Given the description of an element on the screen output the (x, y) to click on. 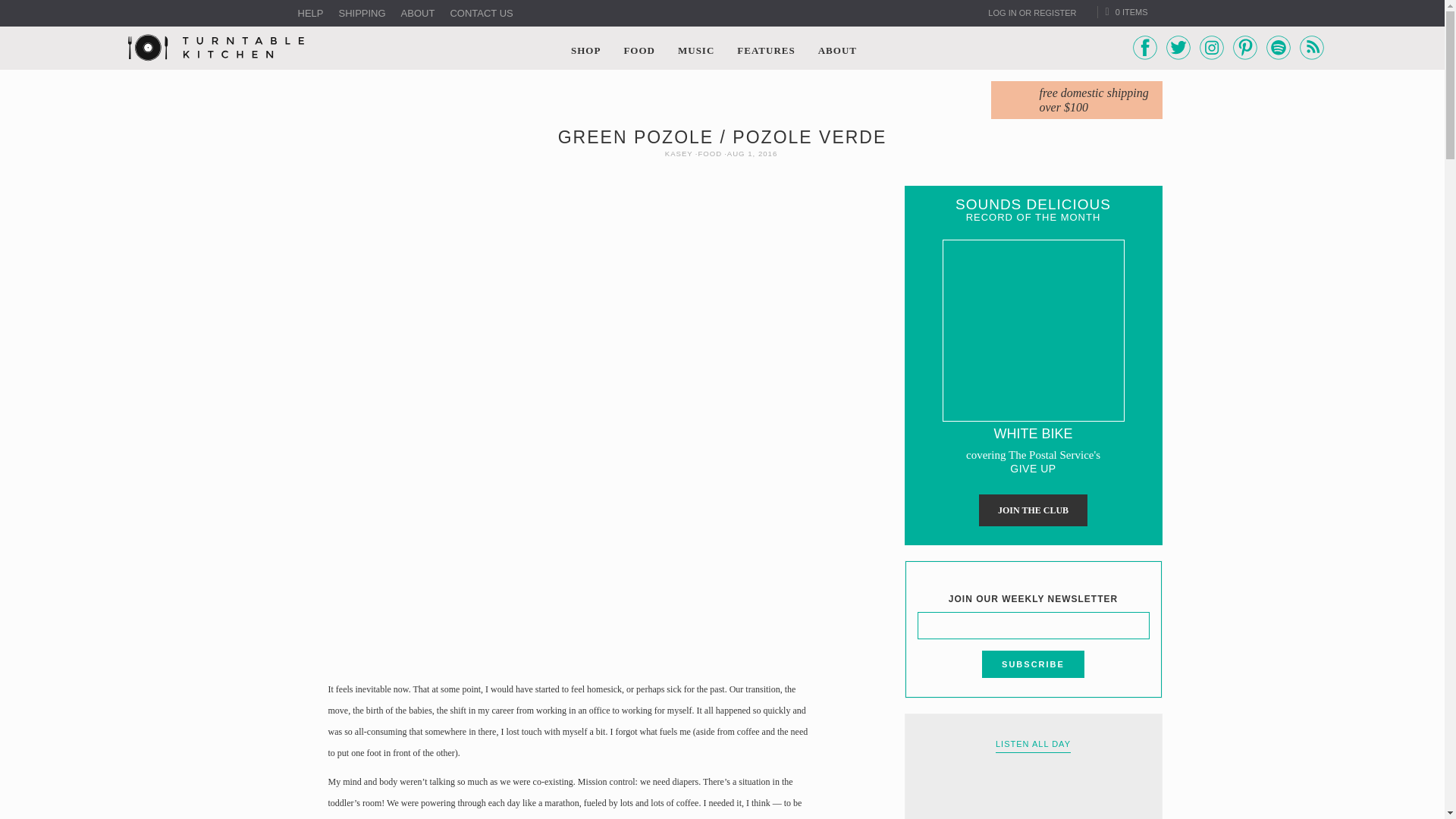
SHOP (585, 47)
Log In (1031, 12)
SHIPPING (361, 13)
Subscribe (1032, 664)
View your shopping cart (1126, 11)
LOG IN OR REGISTER (1031, 12)
0 ITEMS (1126, 11)
CONTACT US (480, 13)
ABOUT (418, 13)
HELP (310, 13)
